Given the description of an element on the screen output the (x, y) to click on. 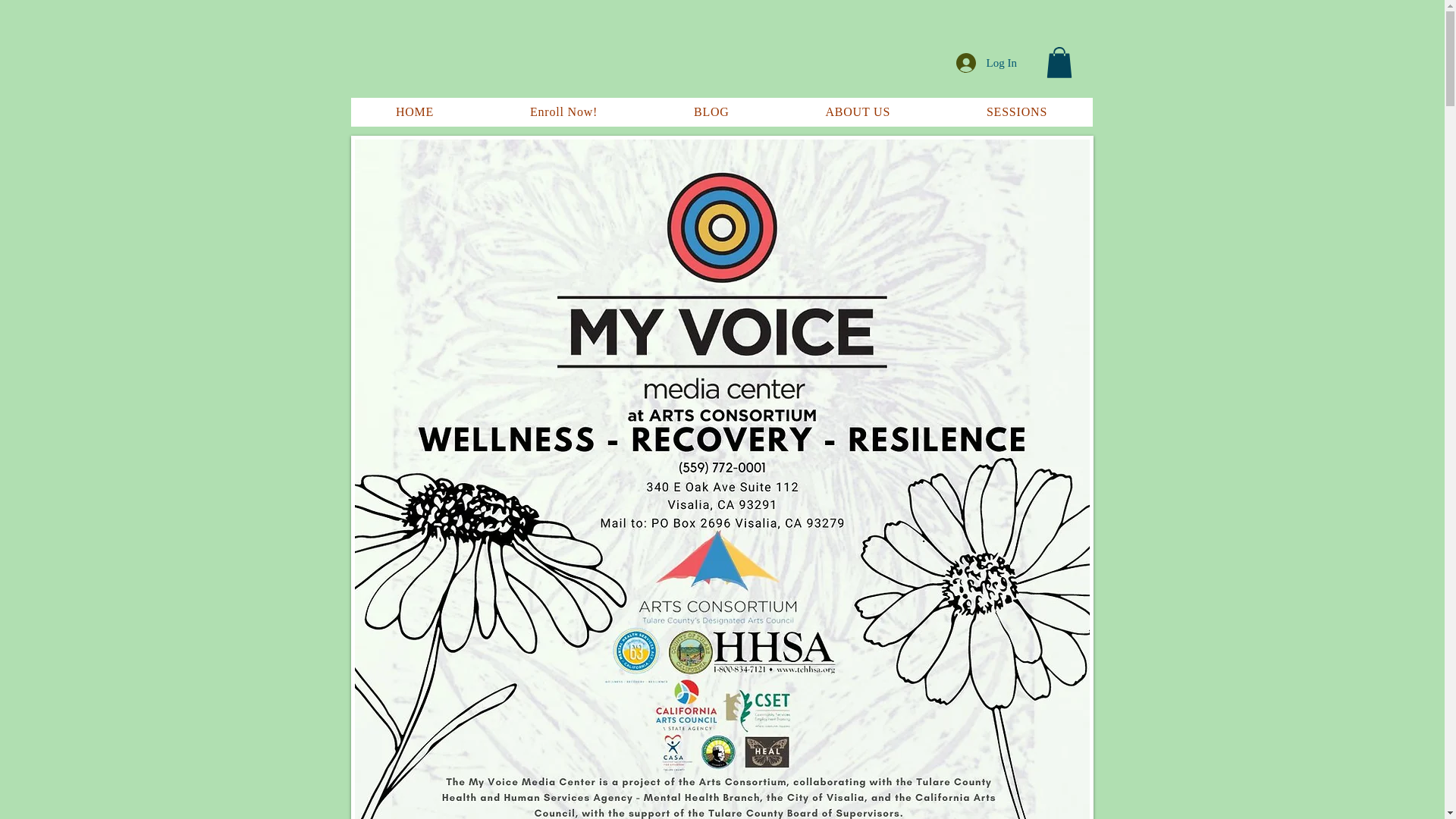
HOME (414, 111)
ABOUT US (857, 111)
SESSIONS (1017, 111)
Log In (985, 62)
Enroll Now! (563, 111)
BLOG (711, 111)
